Given the description of an element on the screen output the (x, y) to click on. 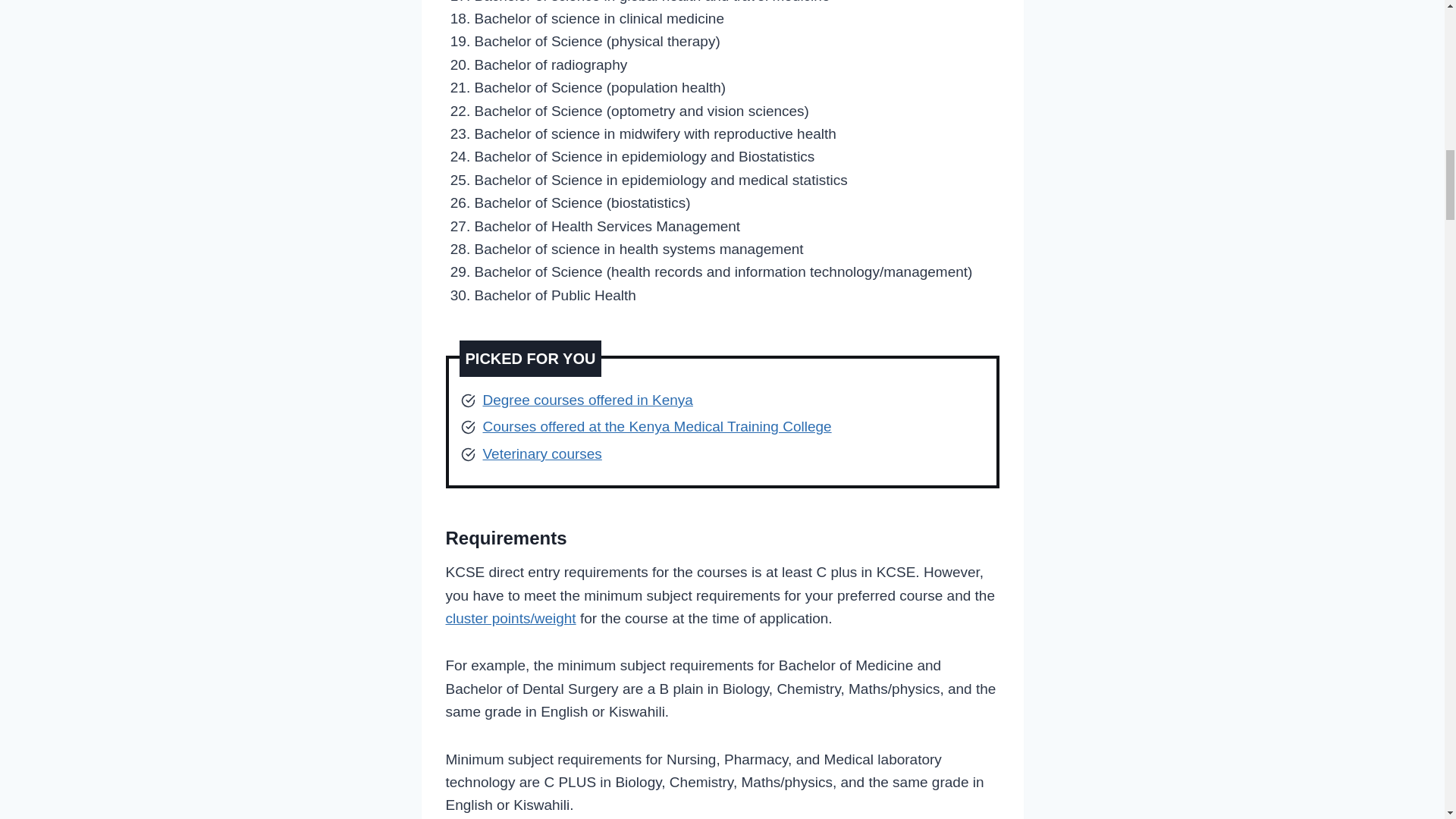
Veterinary courses (541, 453)
Degree courses offered in Kenya (587, 399)
Courses offered at the Kenya Medical Training College (656, 426)
